Given the description of an element on the screen output the (x, y) to click on. 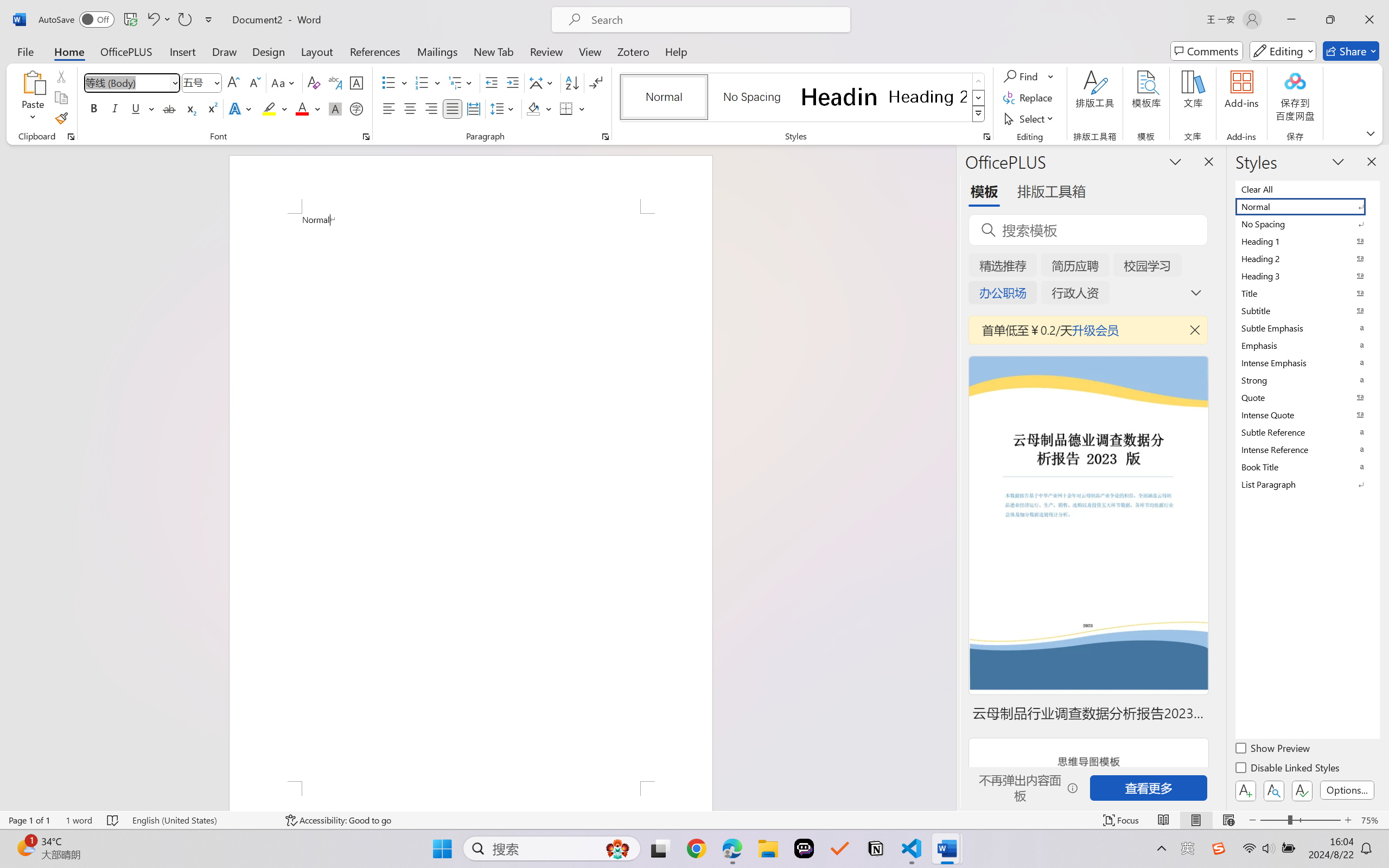
Shrink Font (253, 82)
Increase Indent (512, 82)
Subscript (190, 108)
Align Right (431, 108)
Repeat Doc Close (184, 19)
Zoom In (1348, 819)
Grow Font (233, 82)
Read Mode (1163, 819)
Insert (182, 51)
Paragraph... (605, 136)
Undo Apply Quick Style (158, 19)
